Given the description of an element on the screen output the (x, y) to click on. 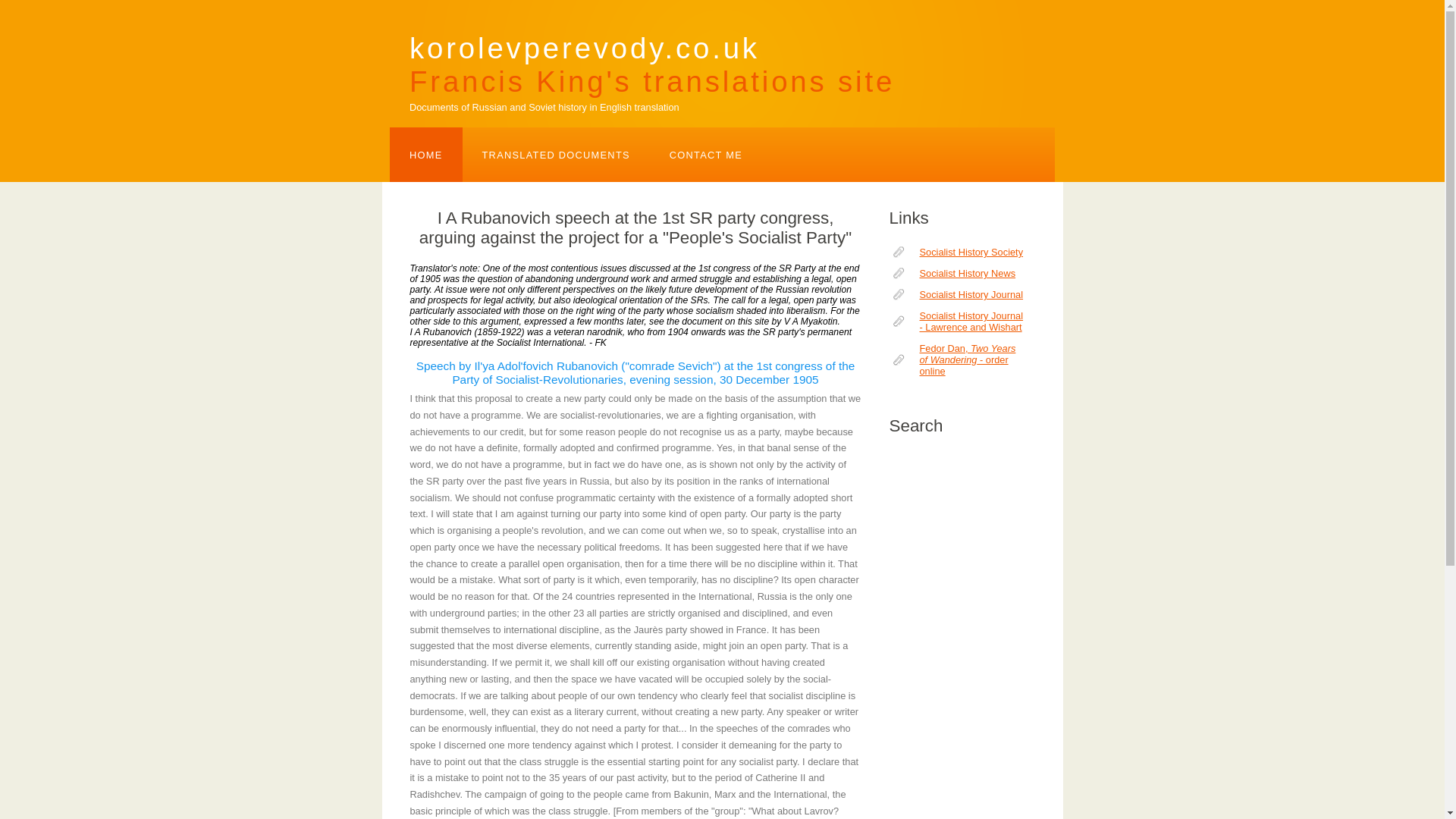
Socialist History Society (955, 251)
Fedor Dan, Two Years of Wandering - order online (652, 56)
HOME (955, 359)
TRANSLATED DOCUMENTS (426, 154)
Socialist History Journal (556, 154)
Socialist History News (955, 294)
Socialist History Journal - Lawrence and Wishart (955, 273)
CONTACT ME (955, 321)
